Given the description of an element on the screen output the (x, y) to click on. 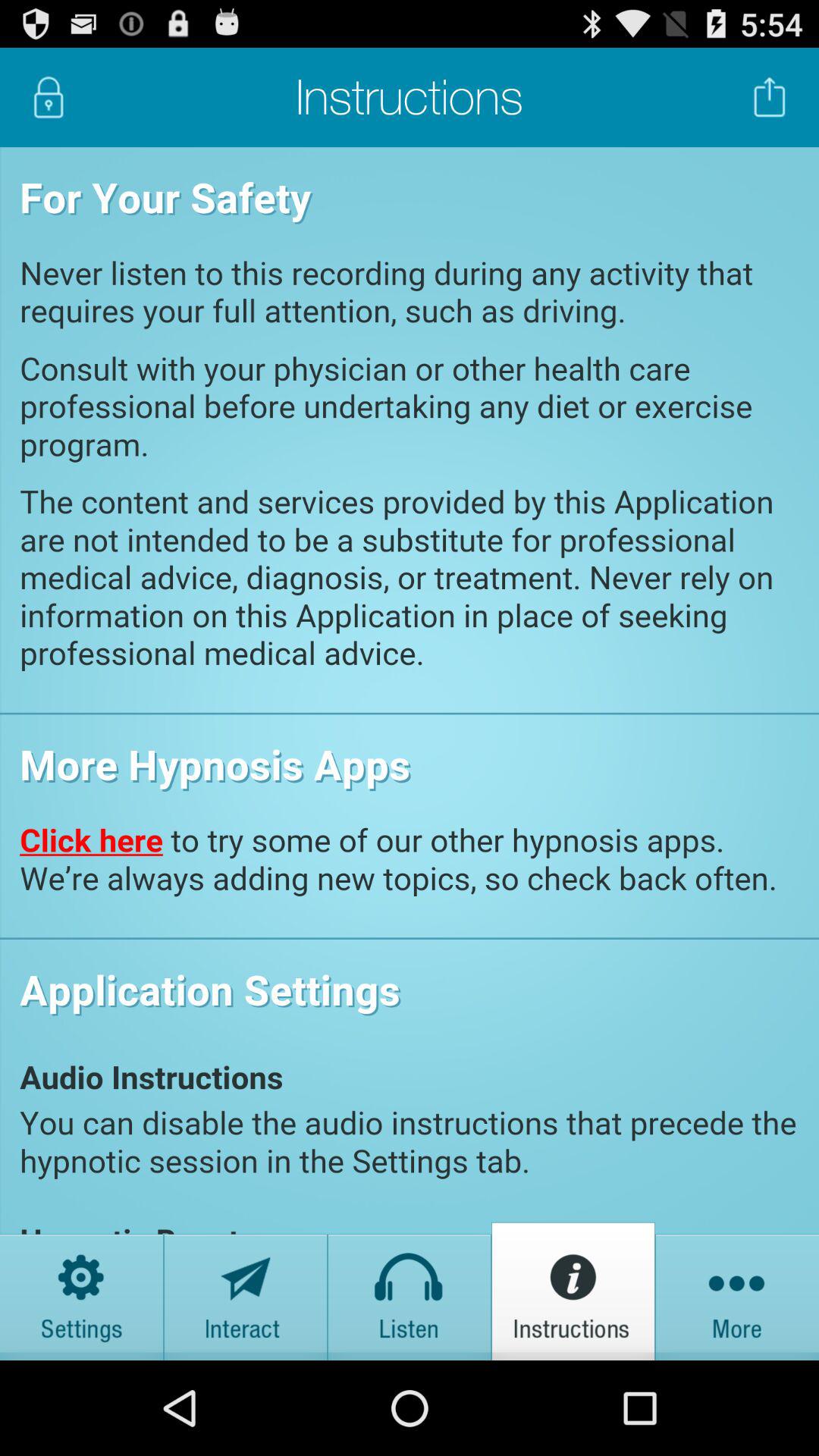
exit from the current tab (769, 97)
